Given the description of an element on the screen output the (x, y) to click on. 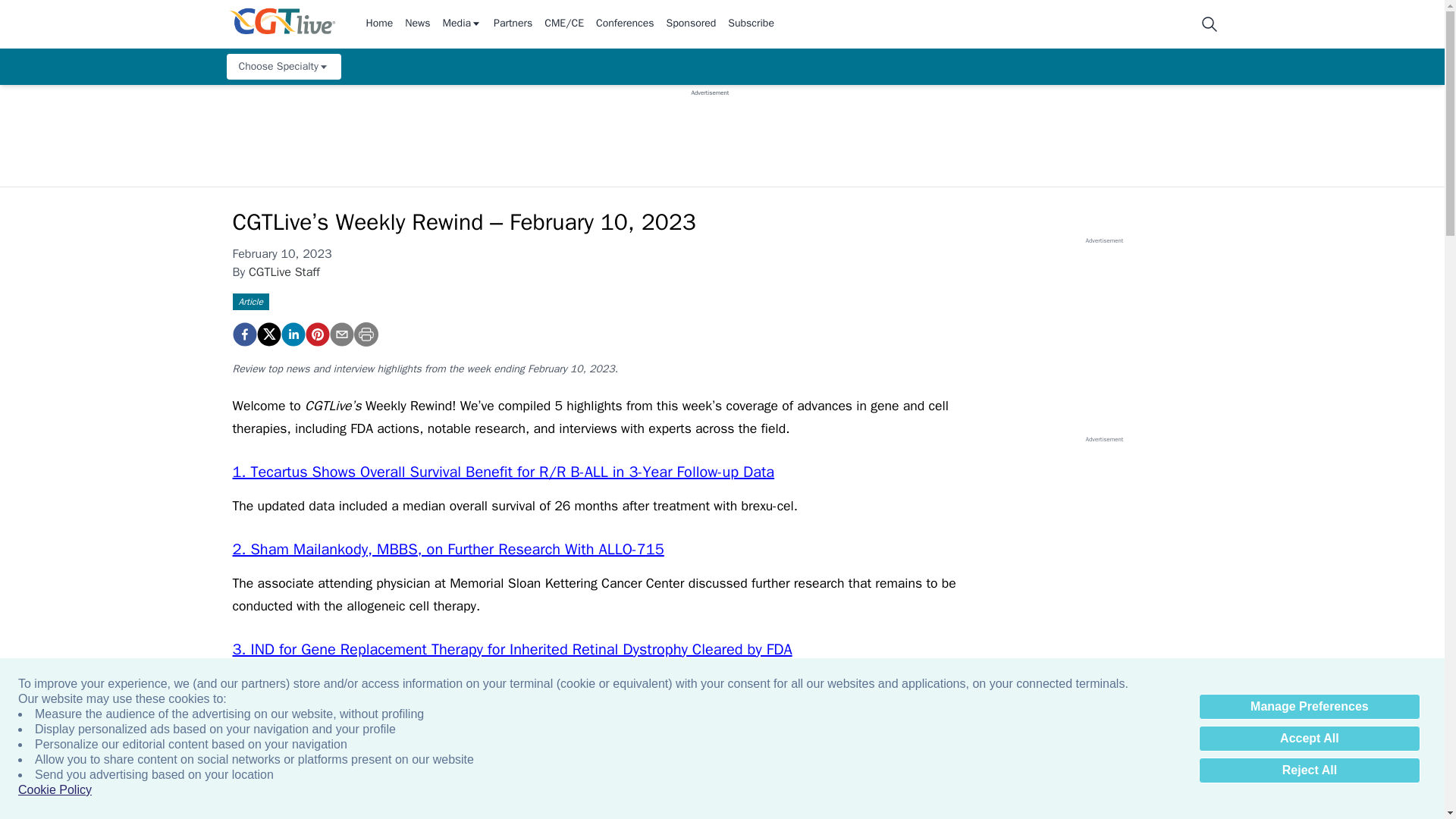
Manage Preferences (1309, 706)
Reject All (1309, 769)
3rd party ad content (709, 131)
Cookie Policy (54, 789)
Choose Specialty (282, 66)
Subscribe (751, 23)
Accept All (1309, 738)
News (416, 23)
Partners (512, 23)
Sponsored (691, 23)
Media (461, 23)
Conferences (624, 23)
Home (379, 23)
